Given the description of an element on the screen output the (x, y) to click on. 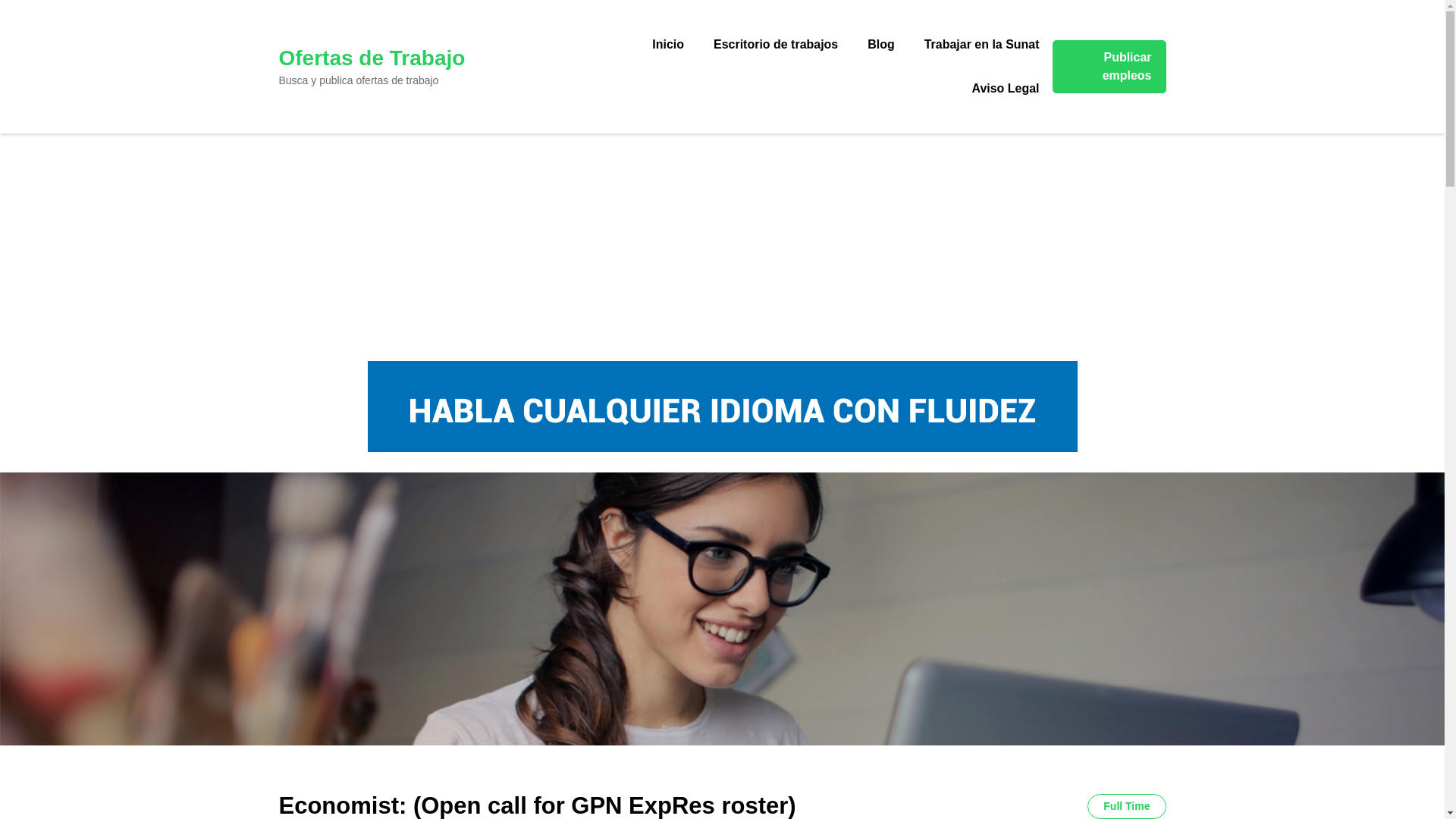
Escritorio de trabajos (775, 44)
Publicar empleos (1109, 66)
Aviso Legal (1004, 88)
Blog (880, 44)
Trabajar en la Sunat (981, 44)
Inicio (668, 44)
Ofertas de Trabajo (372, 57)
